Given the description of an element on the screen output the (x, y) to click on. 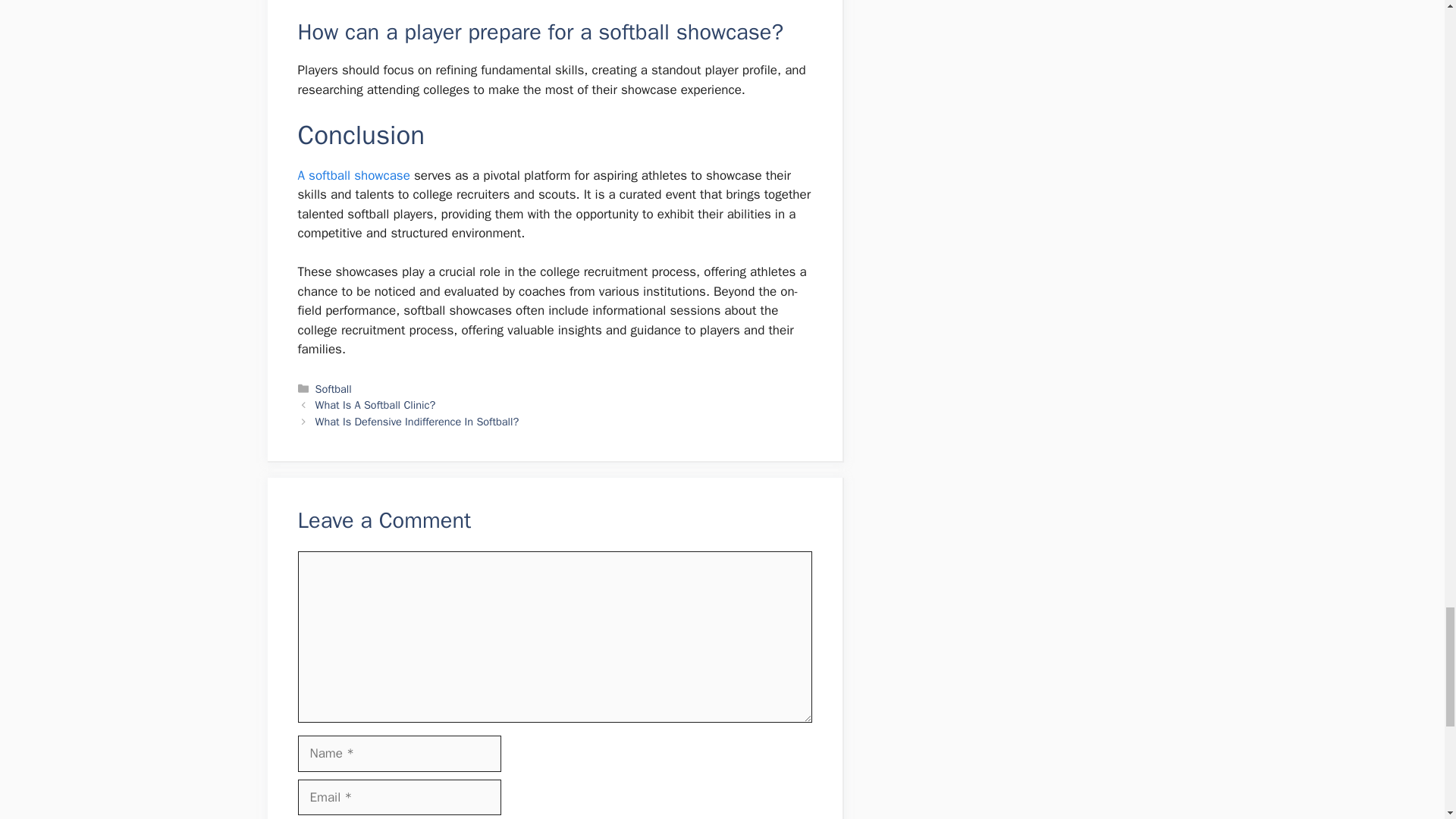
What Is A Softball Clinic? (375, 404)
Softball (333, 388)
A softball showcase (355, 175)
What Is Defensive Indifference In Softball? (417, 421)
